Given the description of an element on the screen output the (x, y) to click on. 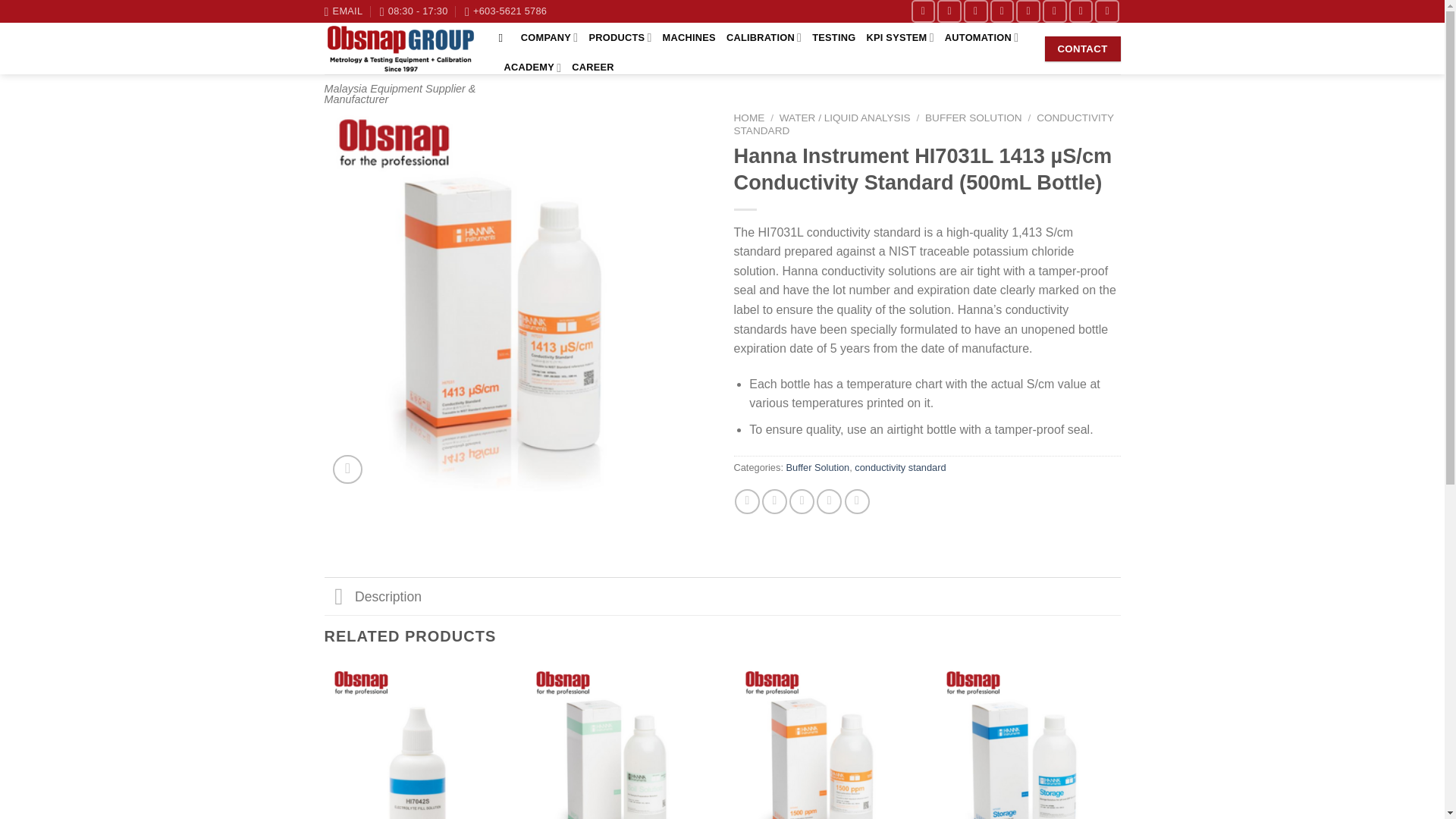
08:30 - 17:30  (414, 11)
Follow on LinkedIn (1080, 11)
PRODUCTS (619, 37)
COMPANY (549, 37)
Follow on YouTube (1106, 11)
EMAIL (343, 11)
Call us (1002, 11)
Follow on Twitter (948, 11)
Send us an email (975, 11)
Follow on Facebook (923, 11)
08:30 - 17:30 (414, 11)
Follow on Pinterest (1028, 11)
Subscribe to RSS (1054, 11)
